Given the description of an element on the screen output the (x, y) to click on. 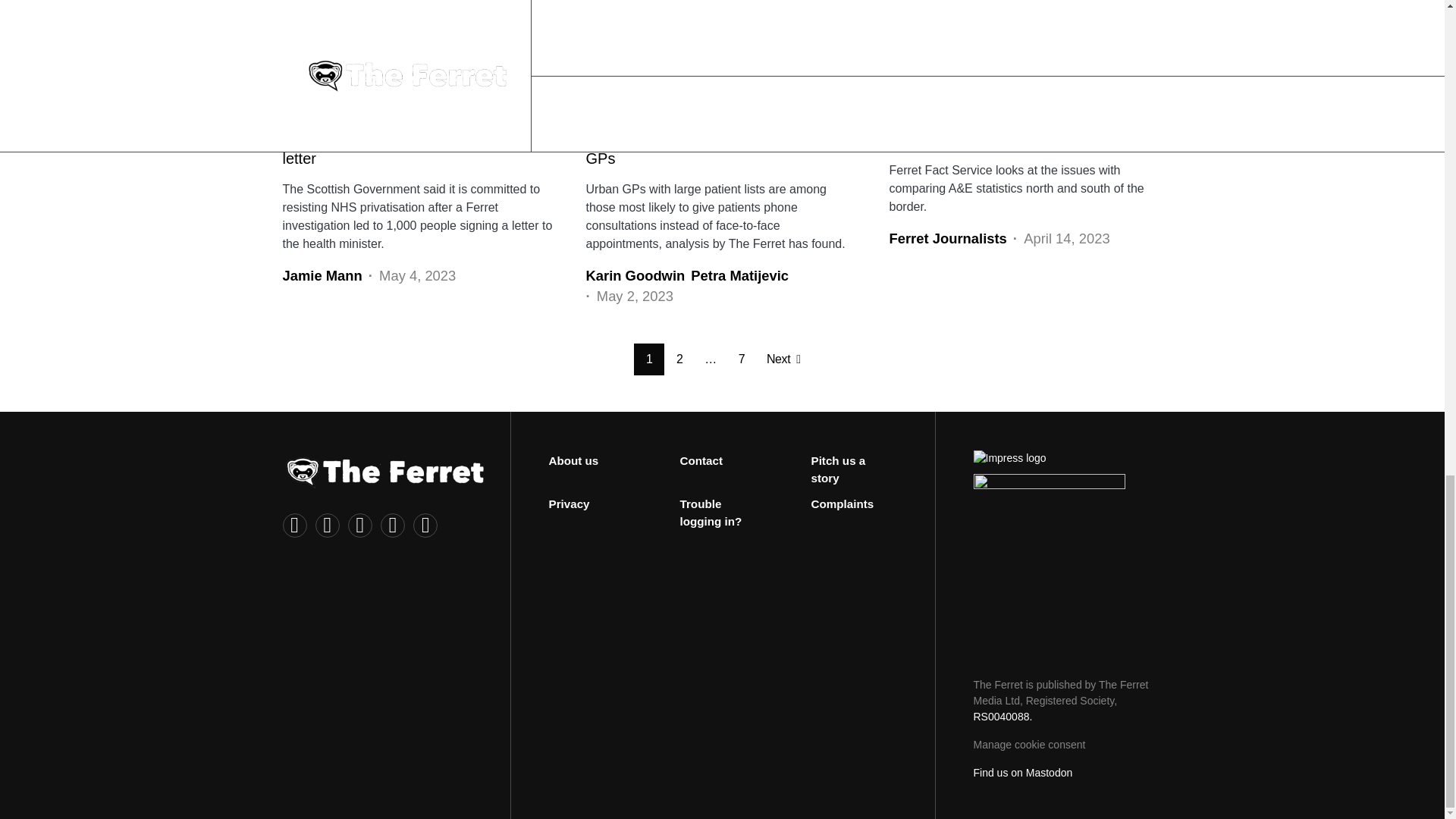
View all posts by Ferret Journalists (947, 238)
View all posts by Petra Matijevic (739, 275)
View all posts by Karin Goodwin (634, 275)
IFCN signatory (1049, 562)
View all posts by Jamie Mann (321, 275)
